Given the description of an element on the screen output the (x, y) to click on. 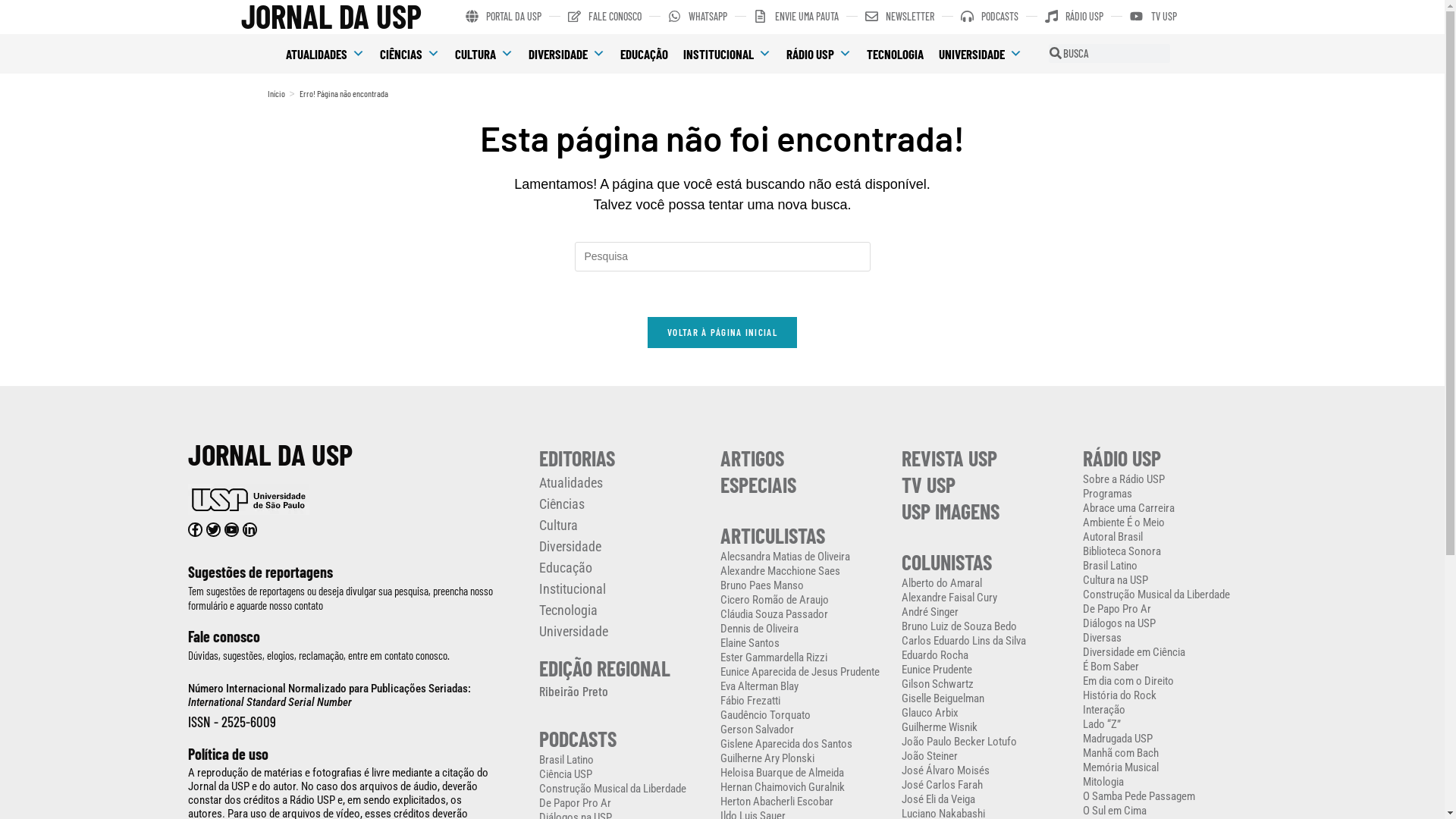
Programas Element type: text (1165, 493)
Eduardo Rocha Element type: text (984, 655)
NEWSLETTER Element type: text (898, 15)
Atualidades Element type: text (622, 482)
Cultura Element type: text (622, 525)
Brasil Latino Element type: text (1165, 565)
UNIVERSIDADE Element type: text (980, 53)
Madrugada USP Element type: text (1165, 738)
Guilherme Wisnik Element type: text (984, 727)
Gerson Salvador Element type: text (803, 729)
Alecsandra Matias de Oliveira Element type: text (803, 556)
Giselle Beiguelman Element type: text (984, 698)
Alexandre Faisal Cury Element type: text (984, 597)
O Sul em Cima Element type: text (1165, 810)
COLUNISTAS Element type: text (946, 561)
ESPECIAIS Element type: text (758, 484)
Institucional Element type: text (622, 589)
Abrace uma Carreira Element type: text (1165, 508)
REVISTA USP Element type: text (949, 457)
Gislene Aparecida dos Santos Element type: text (803, 743)
Dennis de Oliveira Element type: text (803, 628)
Elaine Santos Element type: text (803, 643)
DIVERSIDADE Element type: text (566, 53)
CULTURA Element type: text (483, 53)
USP IMAGENS Element type: text (950, 511)
Fale conosco Element type: text (224, 636)
De Papo Pro Ar Element type: text (1165, 608)
Autoral Brasil Element type: text (1165, 536)
ARTICULISTAS Element type: text (772, 535)
Eva Alterman Blay Element type: text (803, 686)
Bruno Luiz de Souza Bedo Element type: text (984, 626)
O Samba Pede Passagem Element type: text (1165, 796)
WHATSAPP Element type: text (697, 15)
Universidade Element type: text (622, 631)
ENVIE UMA PAUTA Element type: text (795, 15)
INSTITUCIONAL Element type: text (726, 53)
Biblioteca Sonora Element type: text (1165, 551)
Alexandre Macchione Saes Element type: text (803, 570)
ATUALIDADES Element type: text (325, 53)
Tecnologia Element type: text (622, 610)
Carlos Eduardo Lins da Silva Element type: text (984, 640)
TECNOLOGIA Element type: text (895, 53)
PODCASTS Element type: text (577, 738)
De Papor Pro Ar Element type: text (622, 803)
Eunice Aparecida de Jesus Prudente Element type: text (803, 671)
JORNAL DA USP Element type: text (270, 453)
TV USP Element type: text (1152, 15)
Cultura na USP Element type: text (1165, 580)
Bruno Paes Manso Element type: text (803, 585)
Gilson Schwartz Element type: text (984, 683)
Diversas Element type: text (1165, 637)
Ester Gammardella Rizzi Element type: text (803, 657)
Diversidade Element type: text (622, 546)
PODCASTS Element type: text (989, 15)
Eunice Prudente Element type: text (984, 669)
ARTIGOS Element type: text (752, 457)
FALE CONOSCO Element type: text (604, 15)
Guilherne Ary Plonski Element type: text (803, 758)
Mitologia Element type: text (1165, 781)
Em dia com o Direito Element type: text (1165, 680)
Alberto do Amaral Element type: text (984, 583)
PORTAL DA USP Element type: text (503, 15)
Brasil Latino Element type: text (622, 759)
Heloisa Buarque de Almeida Element type: text (803, 772)
Glauco Arbix Element type: text (984, 712)
Hernan Chaimovich Guralnik Element type: text (803, 787)
Herton Abacherli Escobar Element type: text (803, 801)
TV USP Element type: text (928, 484)
